Given the description of an element on the screen output the (x, y) to click on. 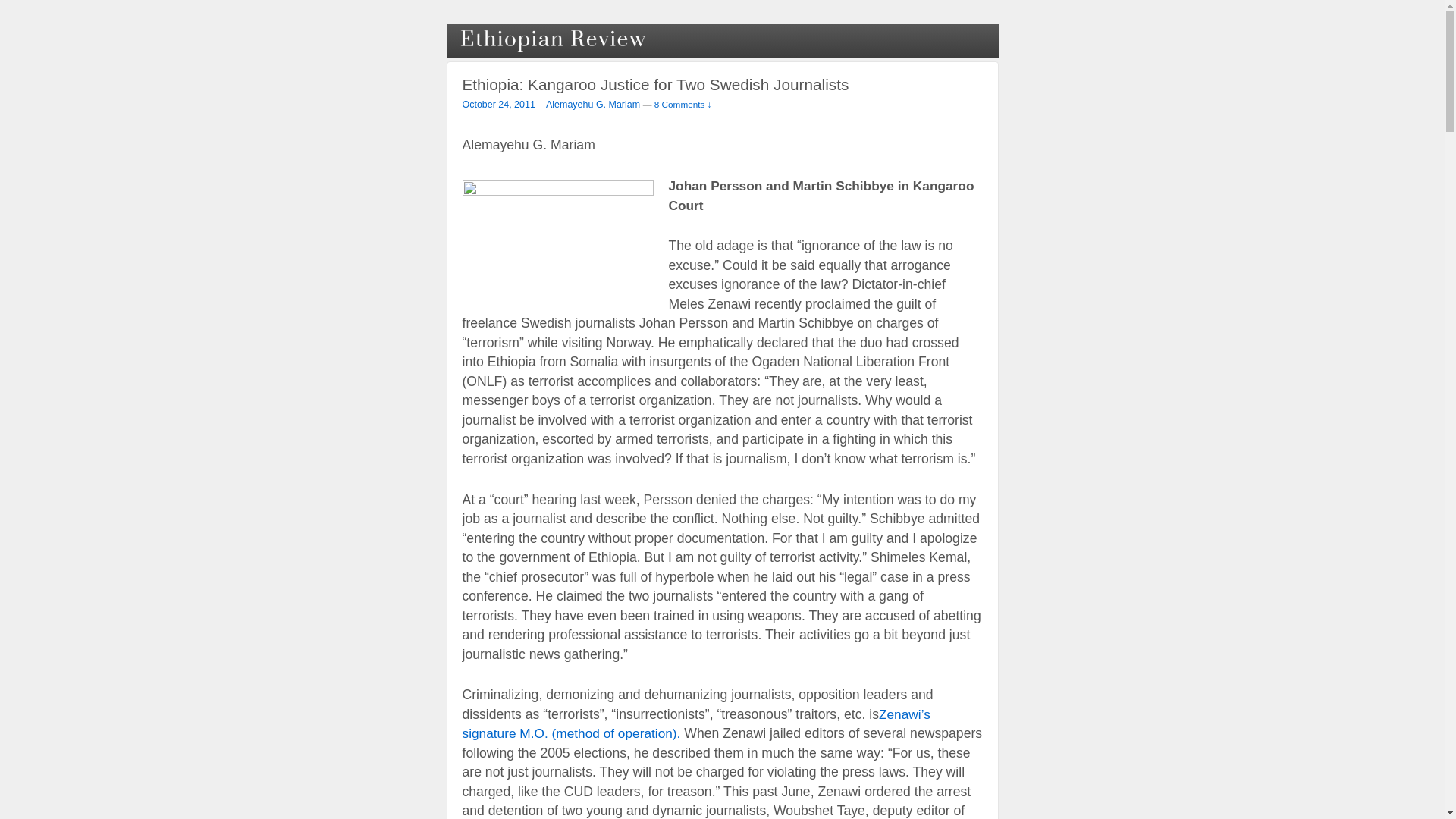
October 24, 2011 (499, 103)
Ethiopian Review (554, 39)
View all posts by Alemayehu G. Mariam (593, 104)
12:32 AM (499, 103)
Alemayehu G. Mariam (593, 104)
